Given the description of an element on the screen output the (x, y) to click on. 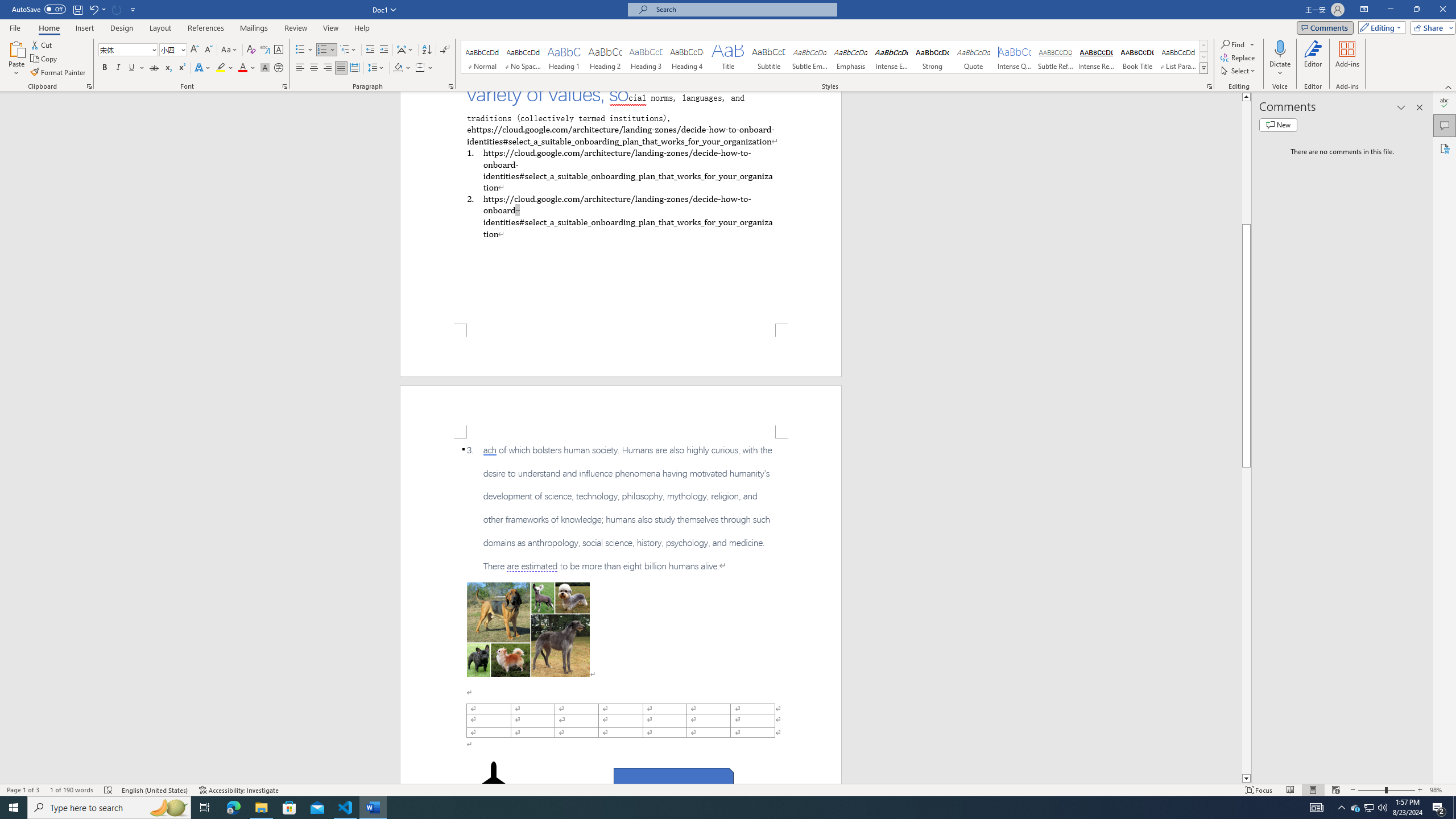
Airplane with solid fill (493, 783)
Superscript (180, 67)
Class: MsoCommandBar (728, 789)
Copy (45, 58)
Change Case (229, 49)
2. (620, 216)
Center (313, 67)
Distributed (354, 67)
Zoom (1386, 790)
